Given the description of an element on the screen output the (x, y) to click on. 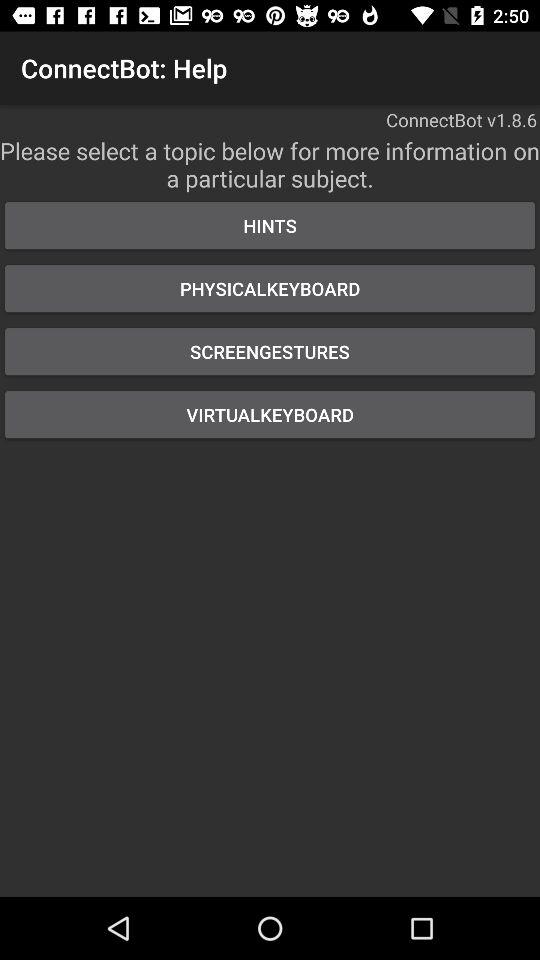
tap icon below the please select a app (270, 225)
